Given the description of an element on the screen output the (x, y) to click on. 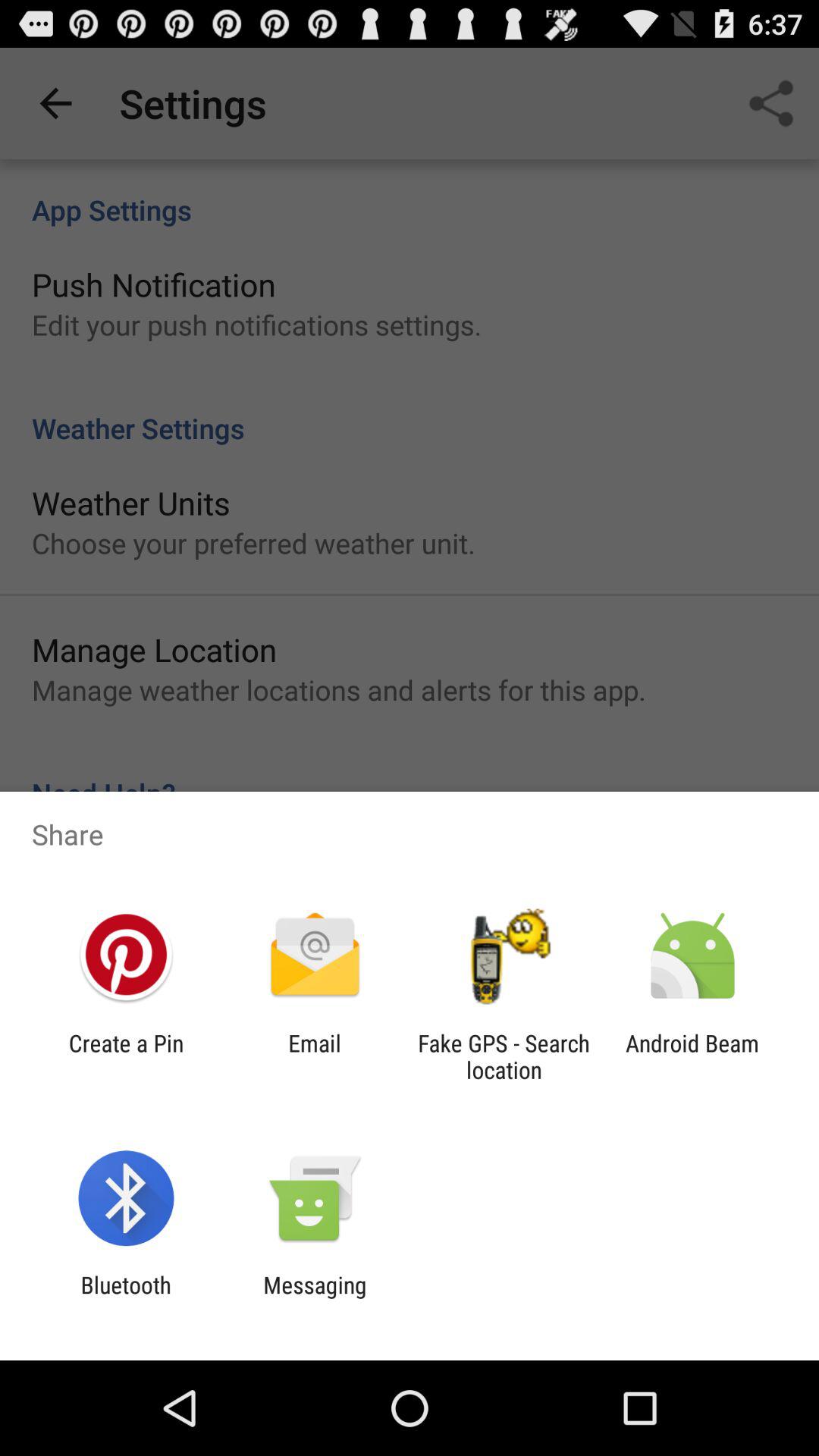
turn on icon to the right of bluetooth (314, 1298)
